Given the description of an element on the screen output the (x, y) to click on. 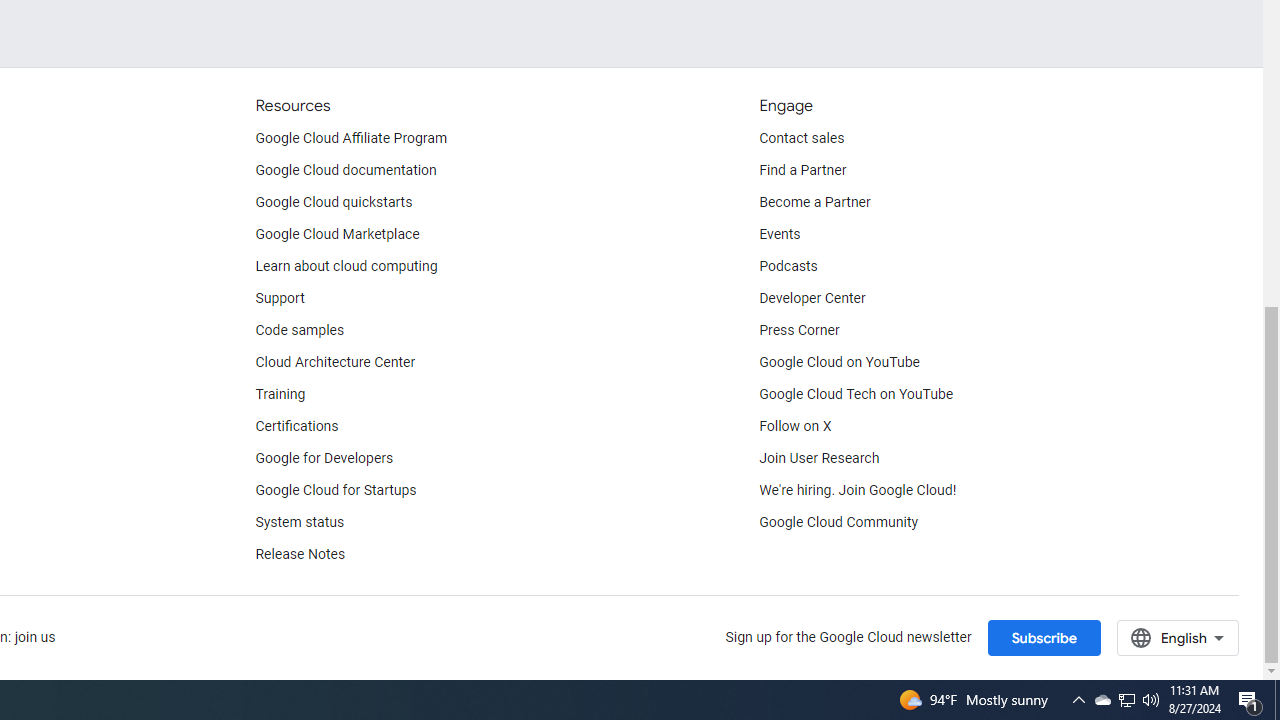
Google Cloud Affiliate Program (351, 138)
Google Cloud documentation (345, 170)
Certifications (296, 426)
Follow on X (795, 426)
We're hiring. Join Google Cloud! (858, 490)
System status (299, 522)
Google Cloud Marketplace (336, 234)
Google Cloud Tech on YouTube (856, 394)
Release Notes (299, 554)
Google Cloud for Startups (335, 490)
Google Cloud quickstarts (333, 202)
Code samples (299, 331)
Developer Center (812, 298)
Learn about cloud computing (345, 266)
